Given the description of an element on the screen output the (x, y) to click on. 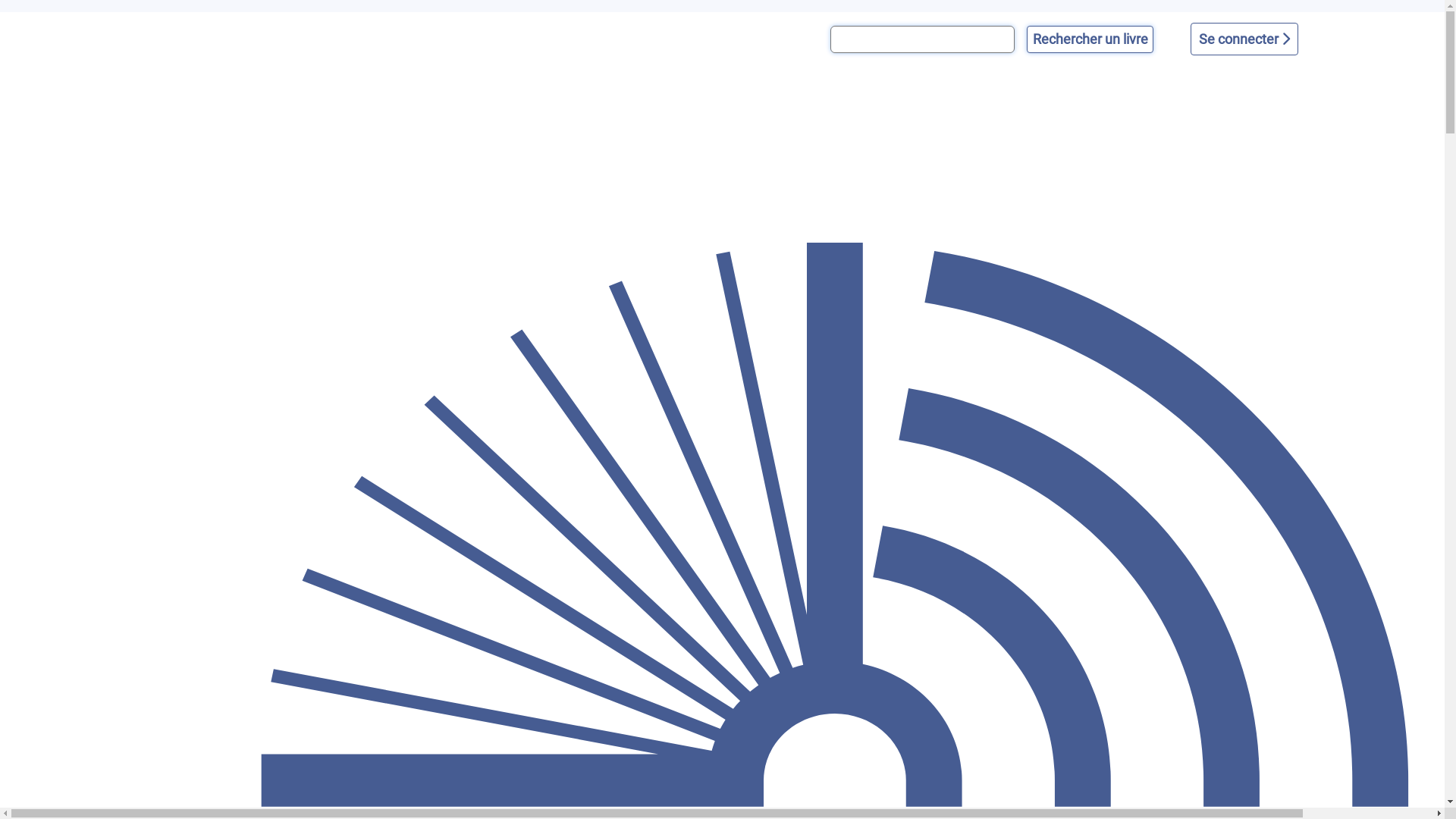
Rechercher un livre Element type: text (1089, 39)
Se connecter Element type: text (1244, 38)
Aller au contenu principal Element type: text (0, 12)
